Given the description of an element on the screen output the (x, y) to click on. 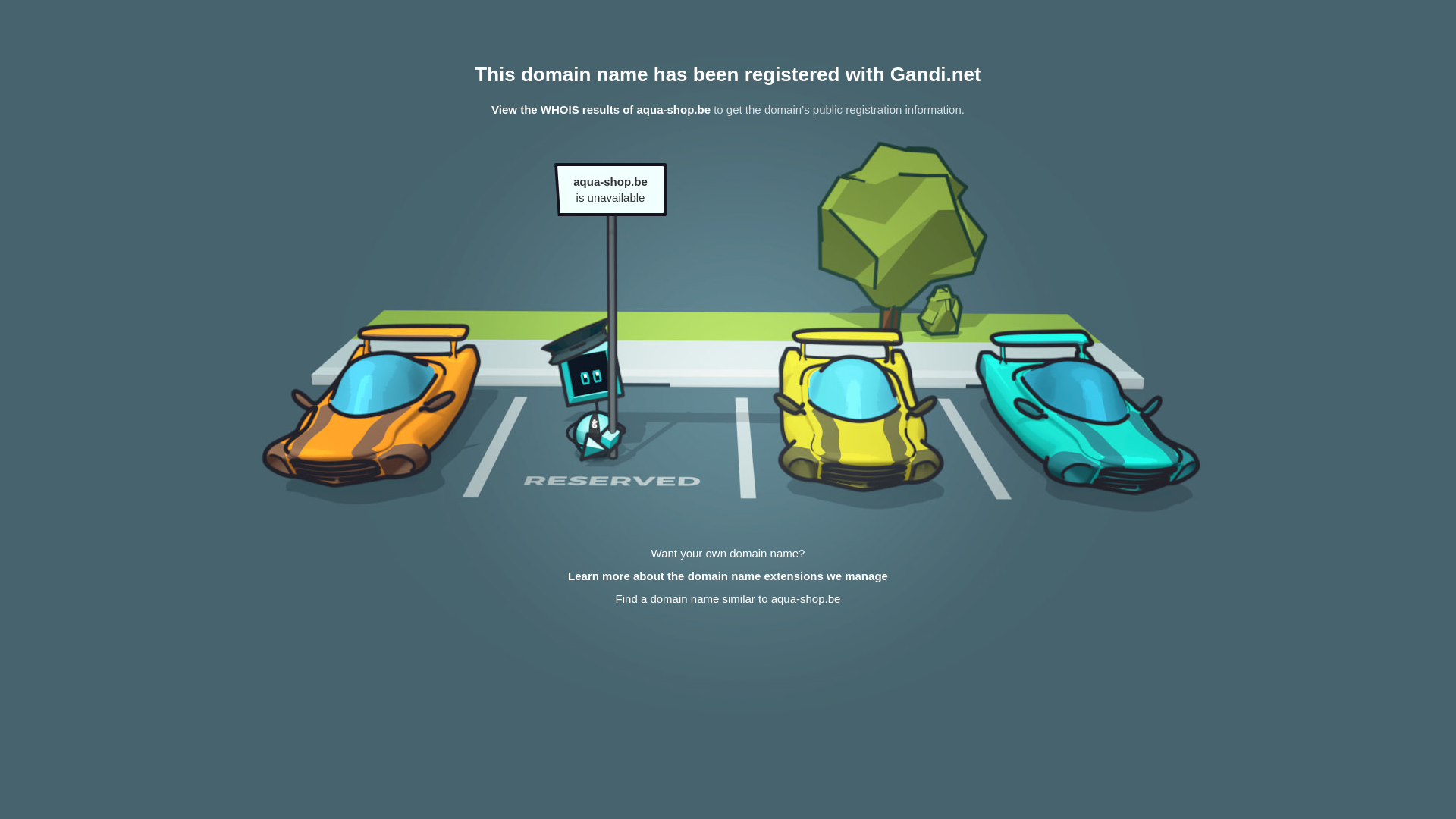
View the WHOIS results of aqua-shop.be Element type: text (600, 109)
Find a domain name similar to aqua-shop.be Element type: text (727, 598)
Learn more about the domain name extensions we manage Element type: text (727, 575)
